Given the description of an element on the screen output the (x, y) to click on. 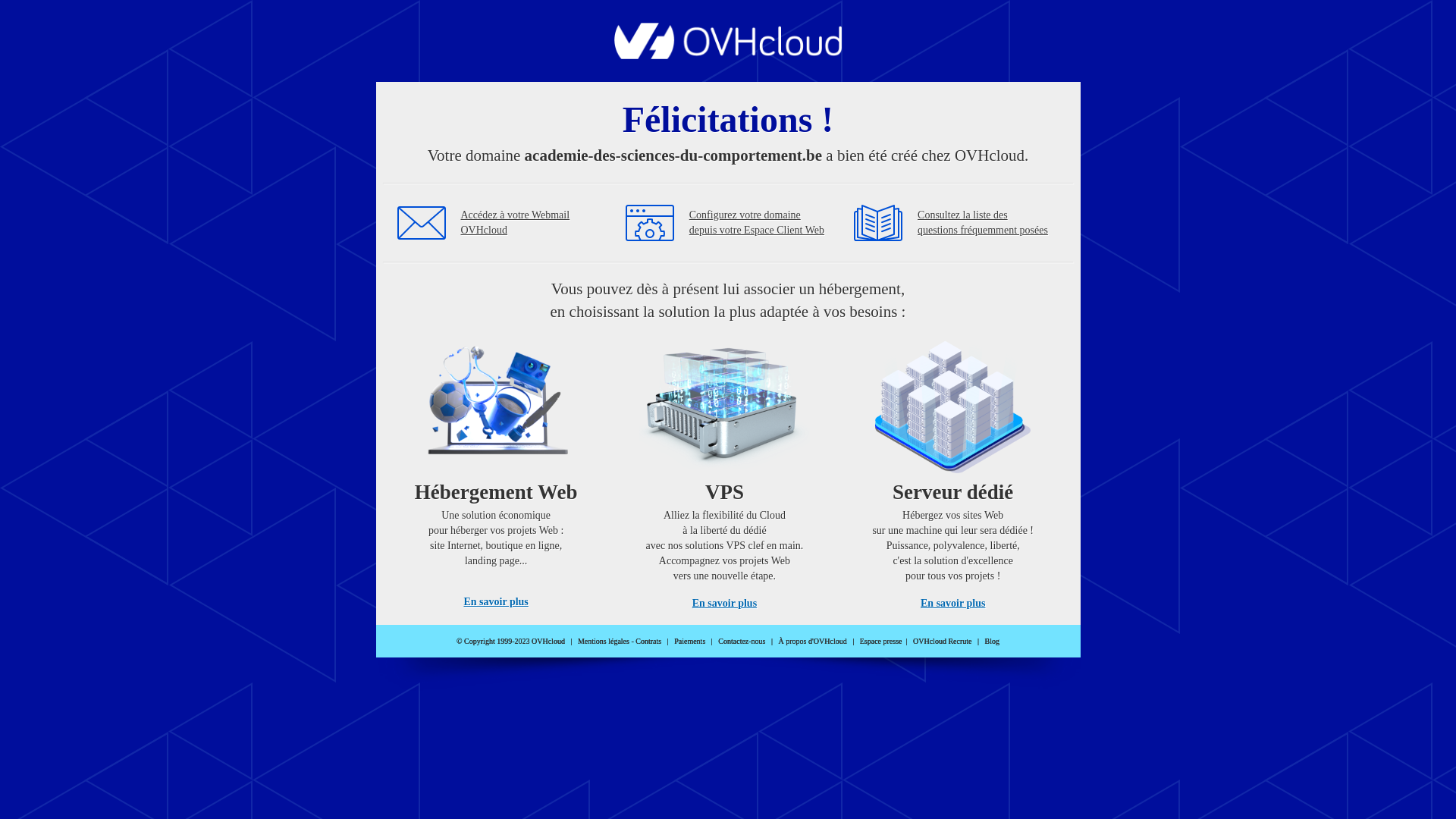
Configurez votre domaine
depuis votre Espace Client Web Element type: text (756, 222)
OVHcloud Recrute Element type: text (942, 641)
En savoir plus Element type: text (495, 601)
Paiements Element type: text (689, 641)
En savoir plus Element type: text (724, 602)
Blog Element type: text (992, 641)
Espace presse Element type: text (880, 641)
Contactez-nous Element type: text (741, 641)
OVHcloud Element type: hover (727, 54)
VPS Element type: hover (724, 469)
En savoir plus Element type: text (952, 602)
